Given the description of an element on the screen output the (x, y) to click on. 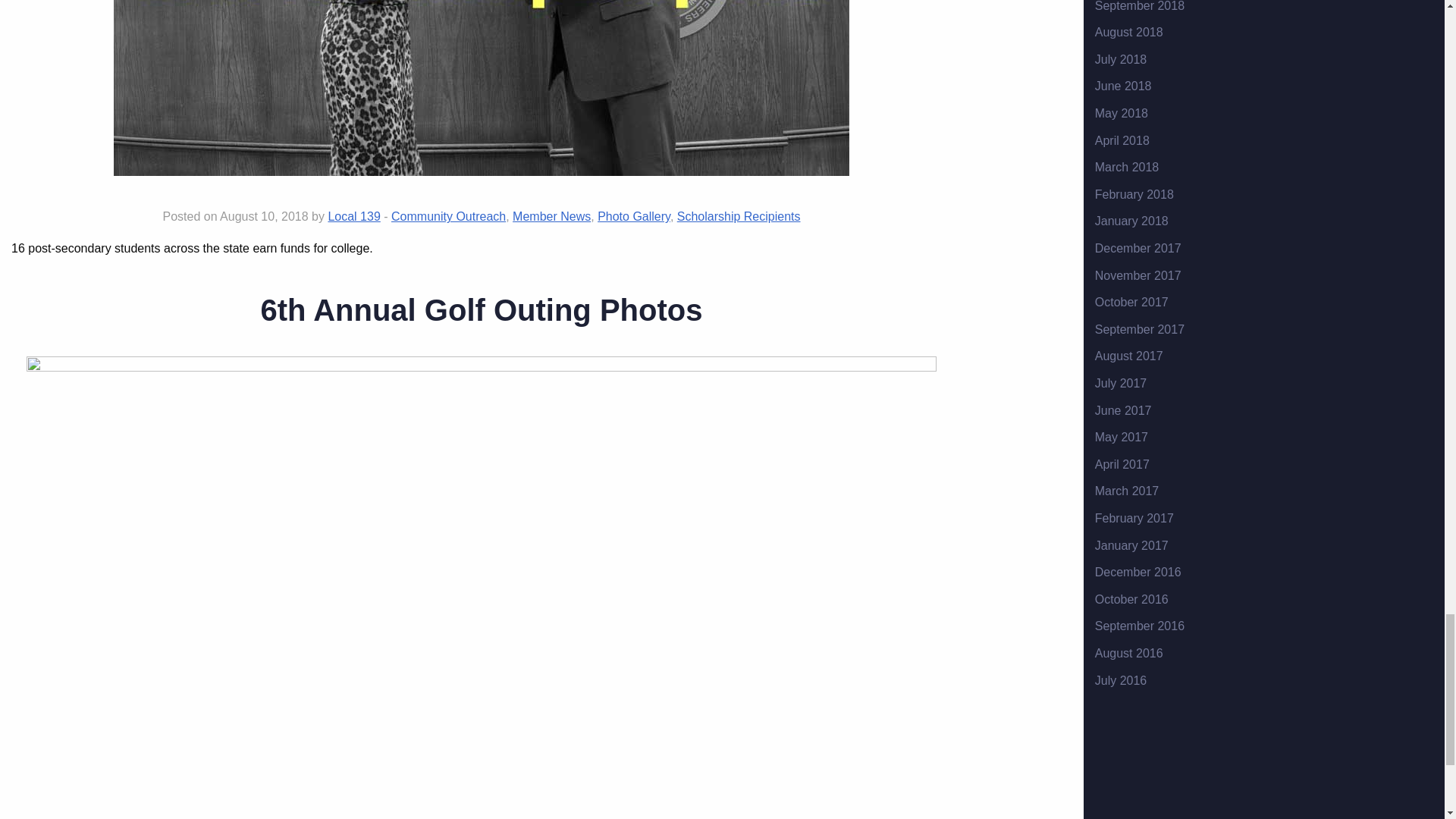
Posts by Local 139 (353, 215)
6th Annual Golf Outing Photos (481, 309)
